Given the description of an element on the screen output the (x, y) to click on. 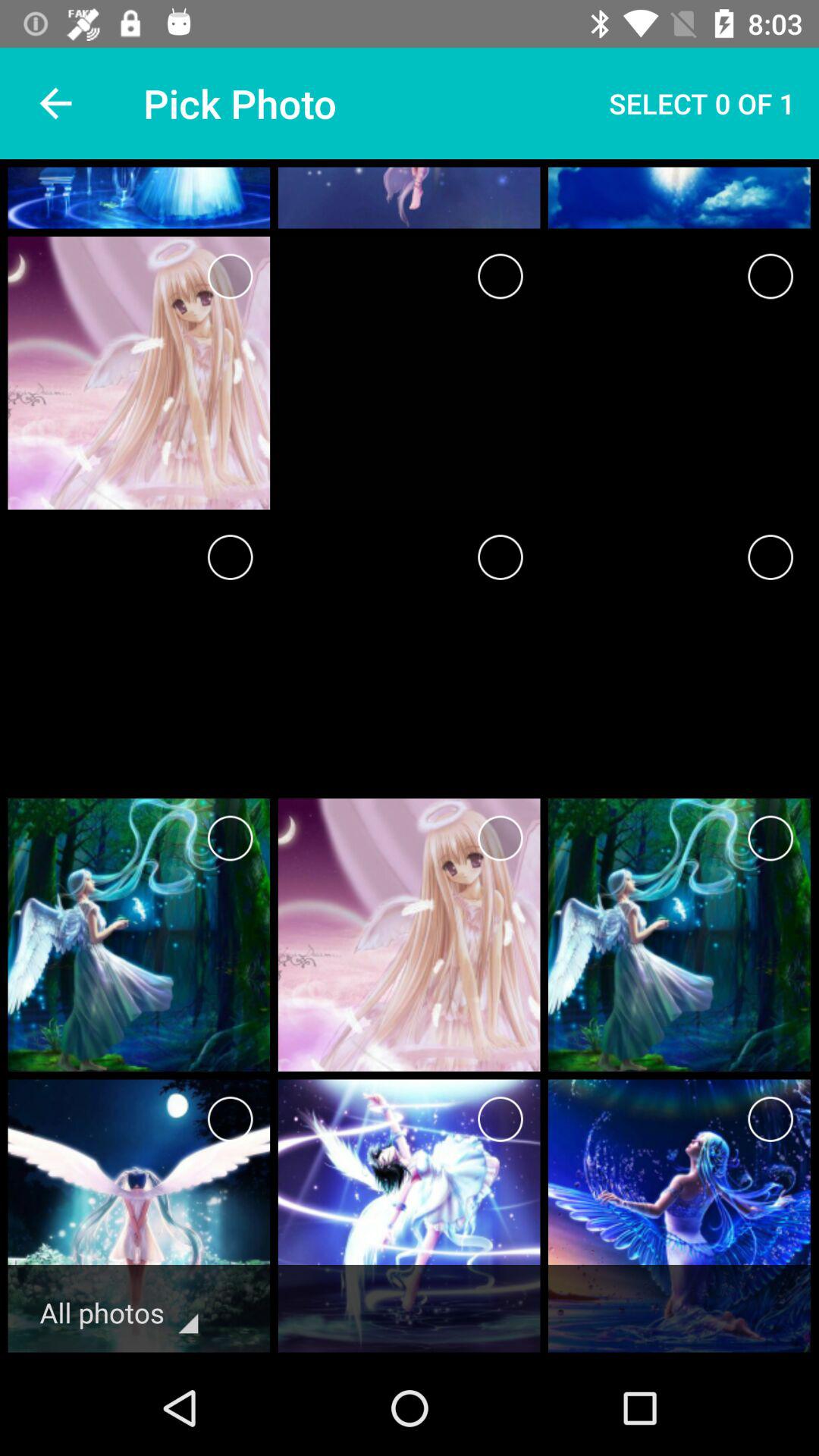
choose the picture (230, 557)
